Given the description of an element on the screen output the (x, y) to click on. 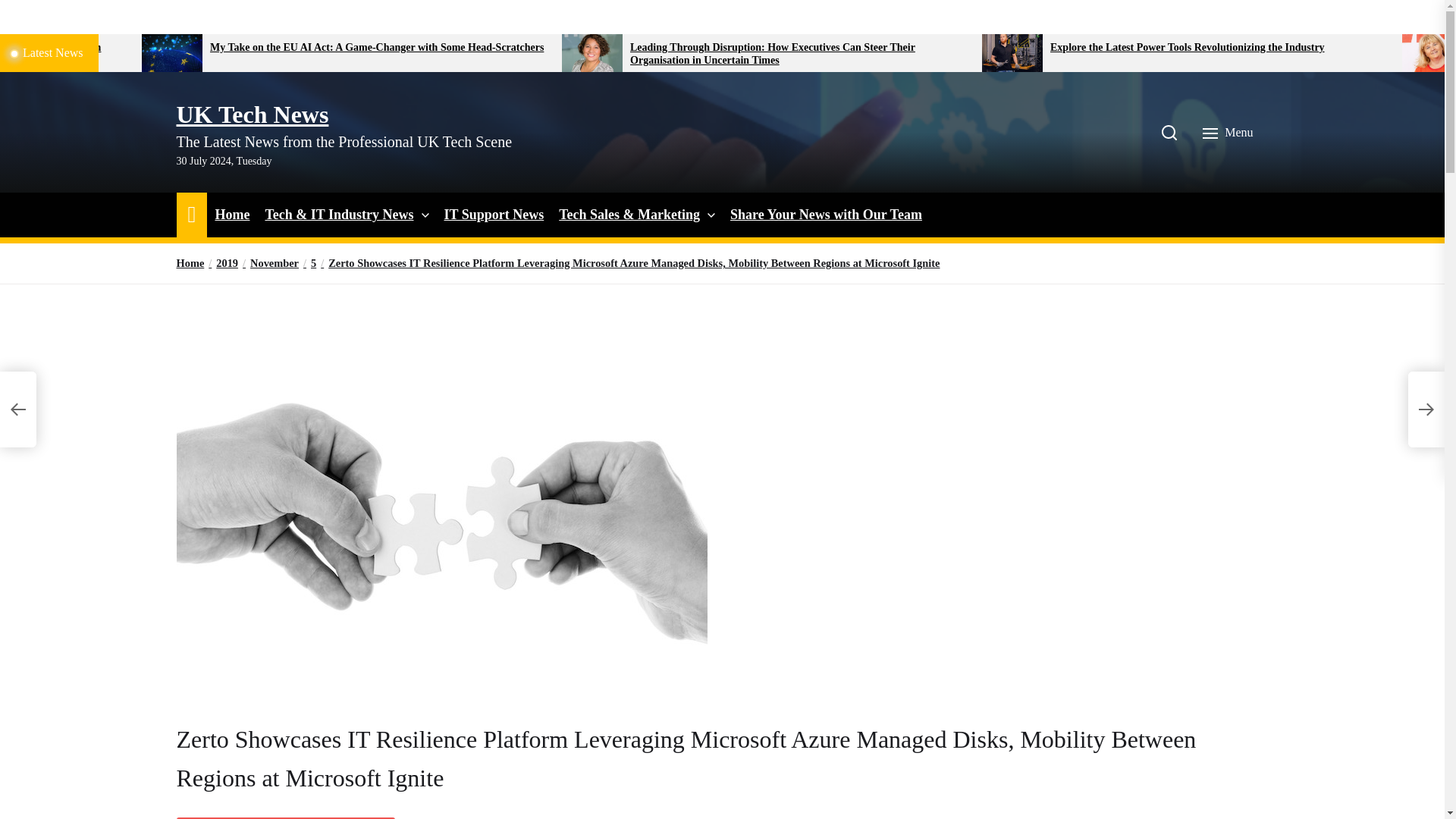
Explore the Latest Power Tools Revolutionizing the Industry (1219, 47)
